Given the description of an element on the screen output the (x, y) to click on. 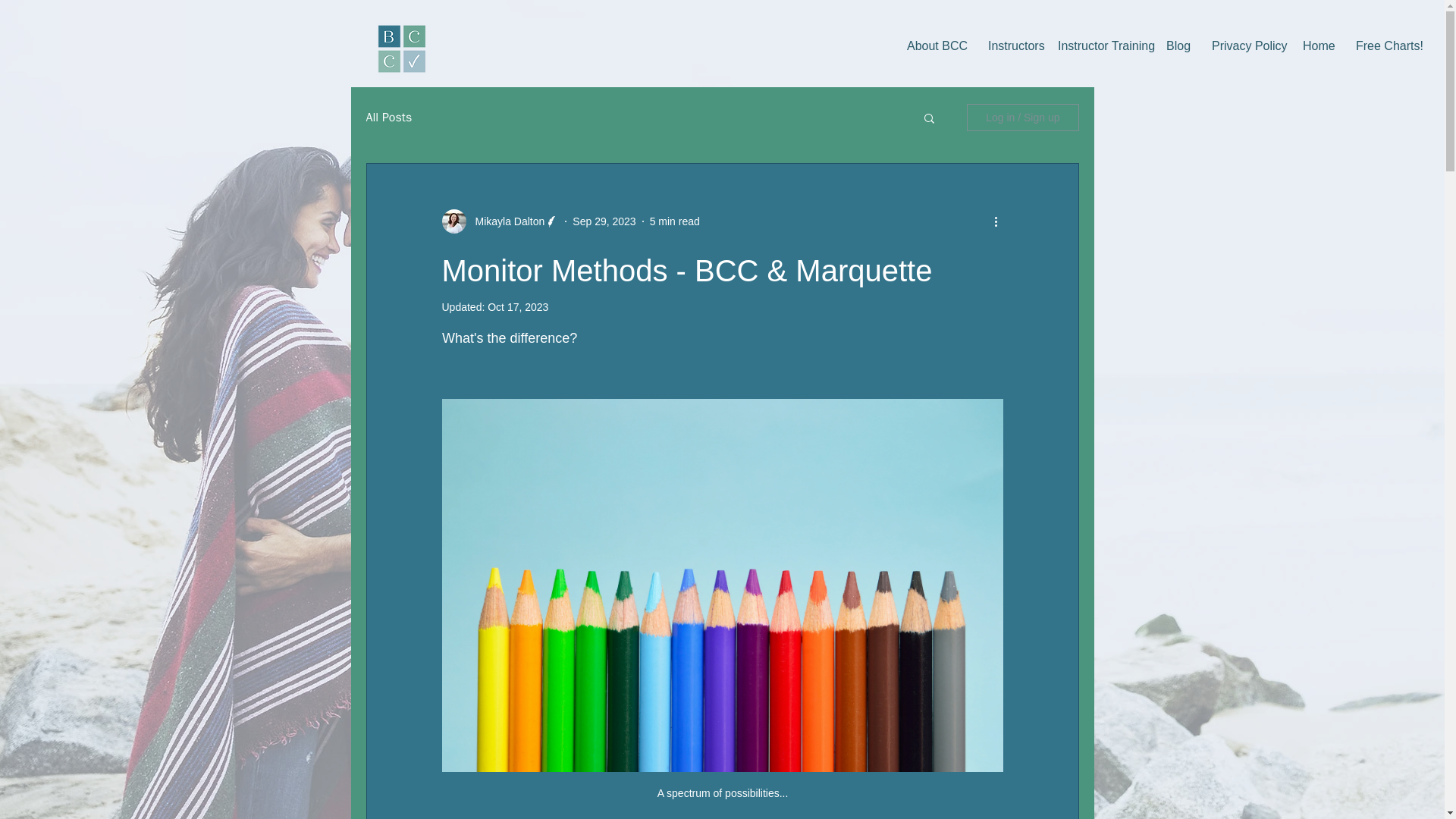
Free Charts! (1384, 46)
Instructors (1011, 46)
Sep 29, 2023 (603, 221)
Blog (1176, 46)
Home (1317, 46)
About BCC (935, 46)
Mikayla Dalton (504, 221)
Oct 17, 2023 (517, 306)
All Posts (388, 116)
5 min read (674, 221)
Privacy Policy (1245, 46)
Instructor Training (1100, 46)
